Given the description of an element on the screen output the (x, y) to click on. 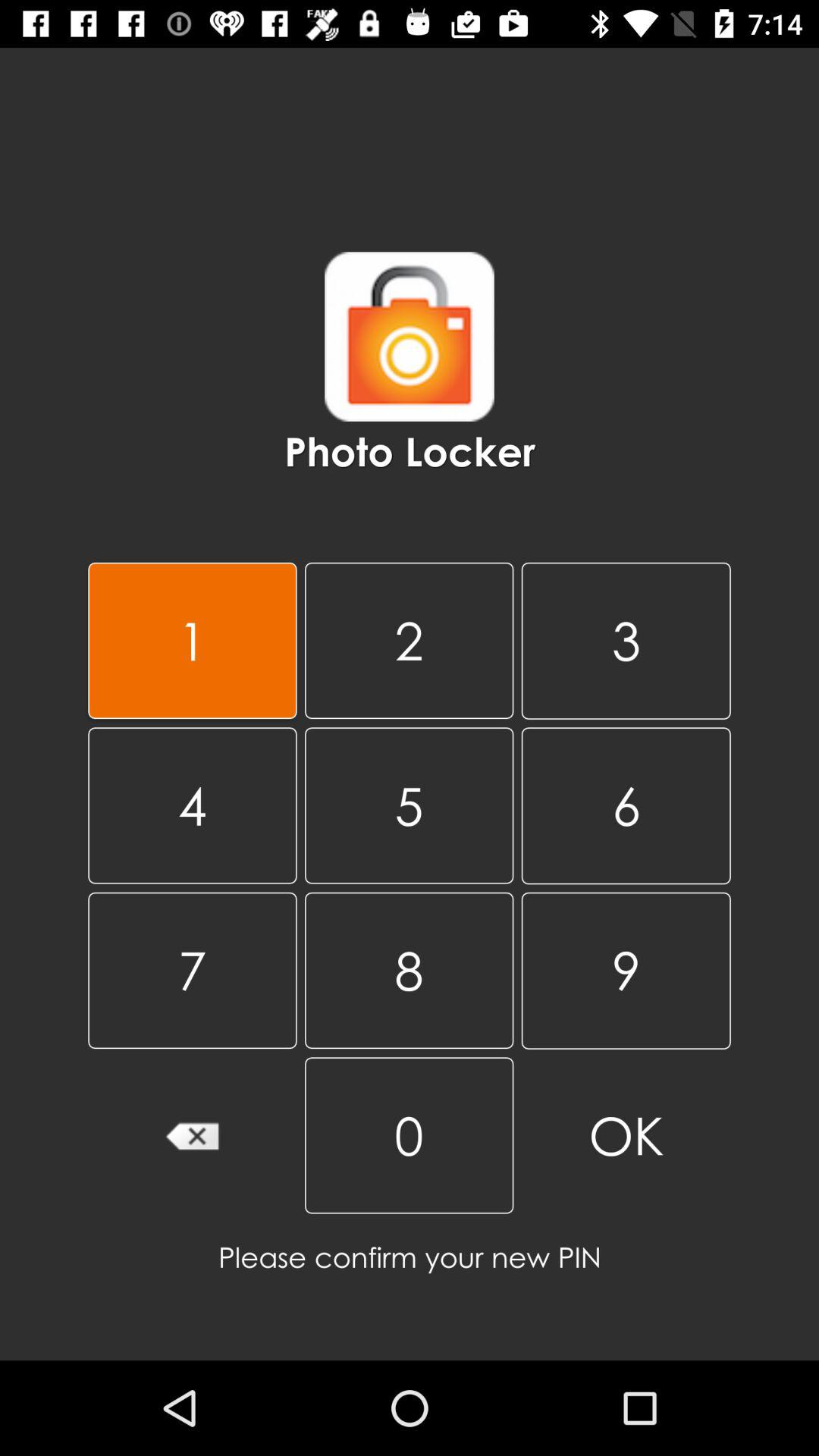
jump until the 2 item (408, 640)
